Given the description of an element on the screen output the (x, y) to click on. 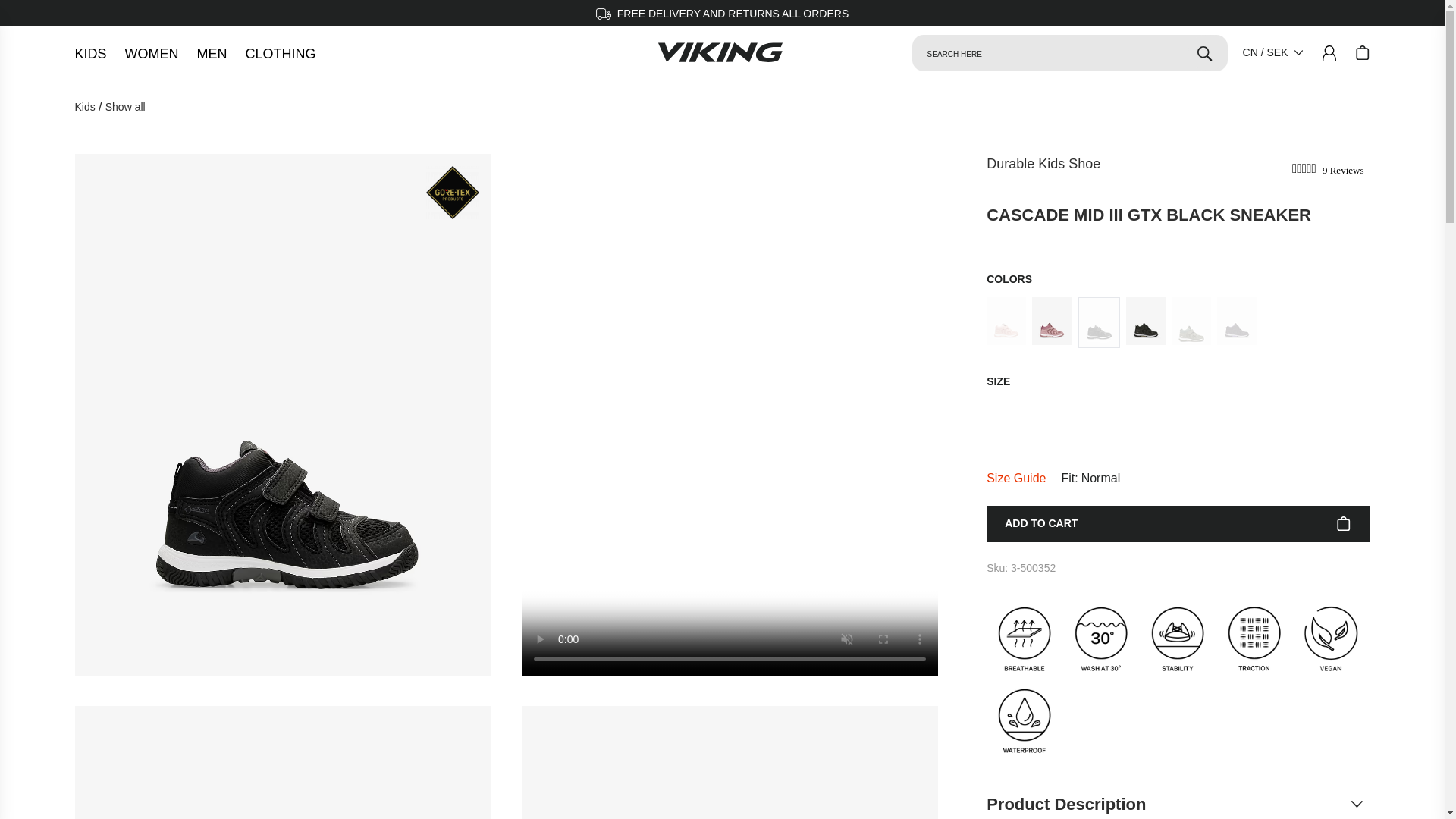
KIDS (90, 55)
FREE DELIVERY AND RETURNS ALL ORDERS (722, 13)
WOMEN (151, 55)
MEN (211, 55)
